Given the description of an element on the screen output the (x, y) to click on. 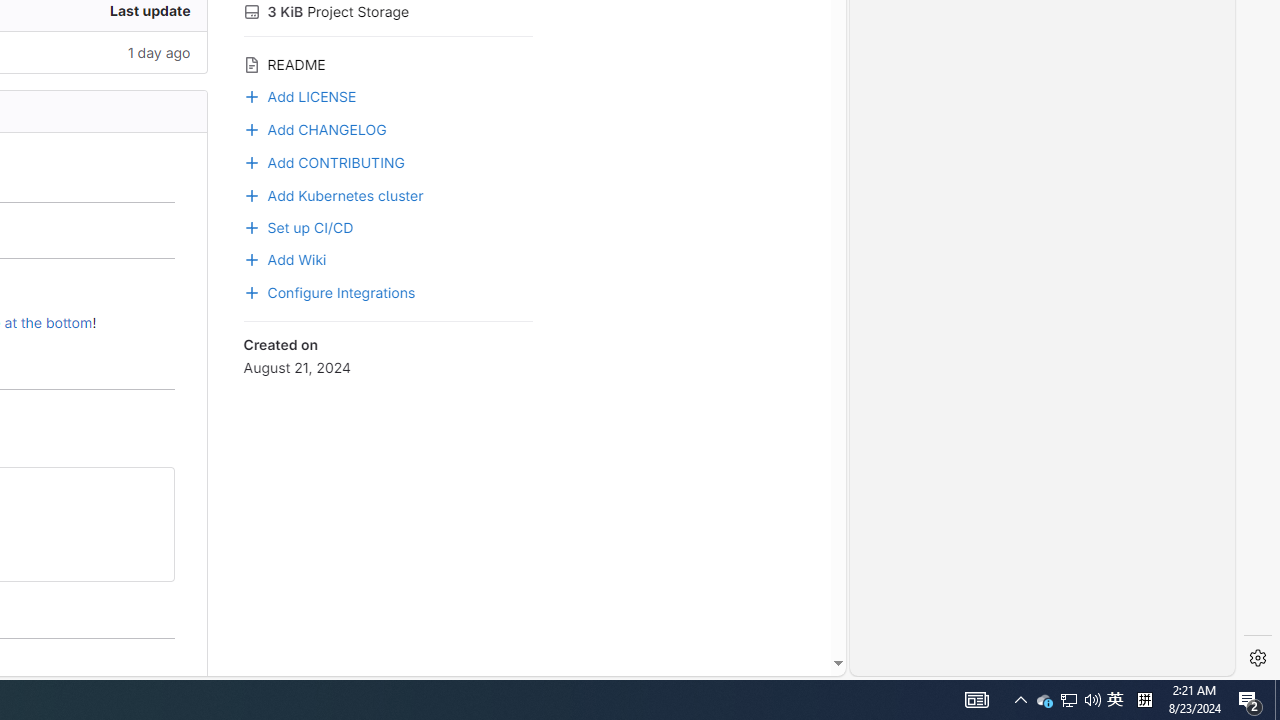
Class: s16 icon gl-mr-3 gl-text-gray-500 (251, 64)
Class: s16 gl-mr-3 (251, 259)
Set up CI/CD (298, 225)
Add Kubernetes cluster (387, 194)
Add Wiki (387, 258)
README (387, 62)
Class: s16 gl-text-blue-500! gl-mr-3 (251, 162)
Class: btn btn-default btn-md gl-button btn-icon has-tooltip (150, 489)
Add LICENSE (387, 95)
Class: s16 gl-blue-500! gl-mr-3 (251, 292)
Configure Integrations (329, 291)
Add Kubernetes cluster (333, 194)
Add CHANGELOG (387, 128)
